Given the description of an element on the screen output the (x, y) to click on. 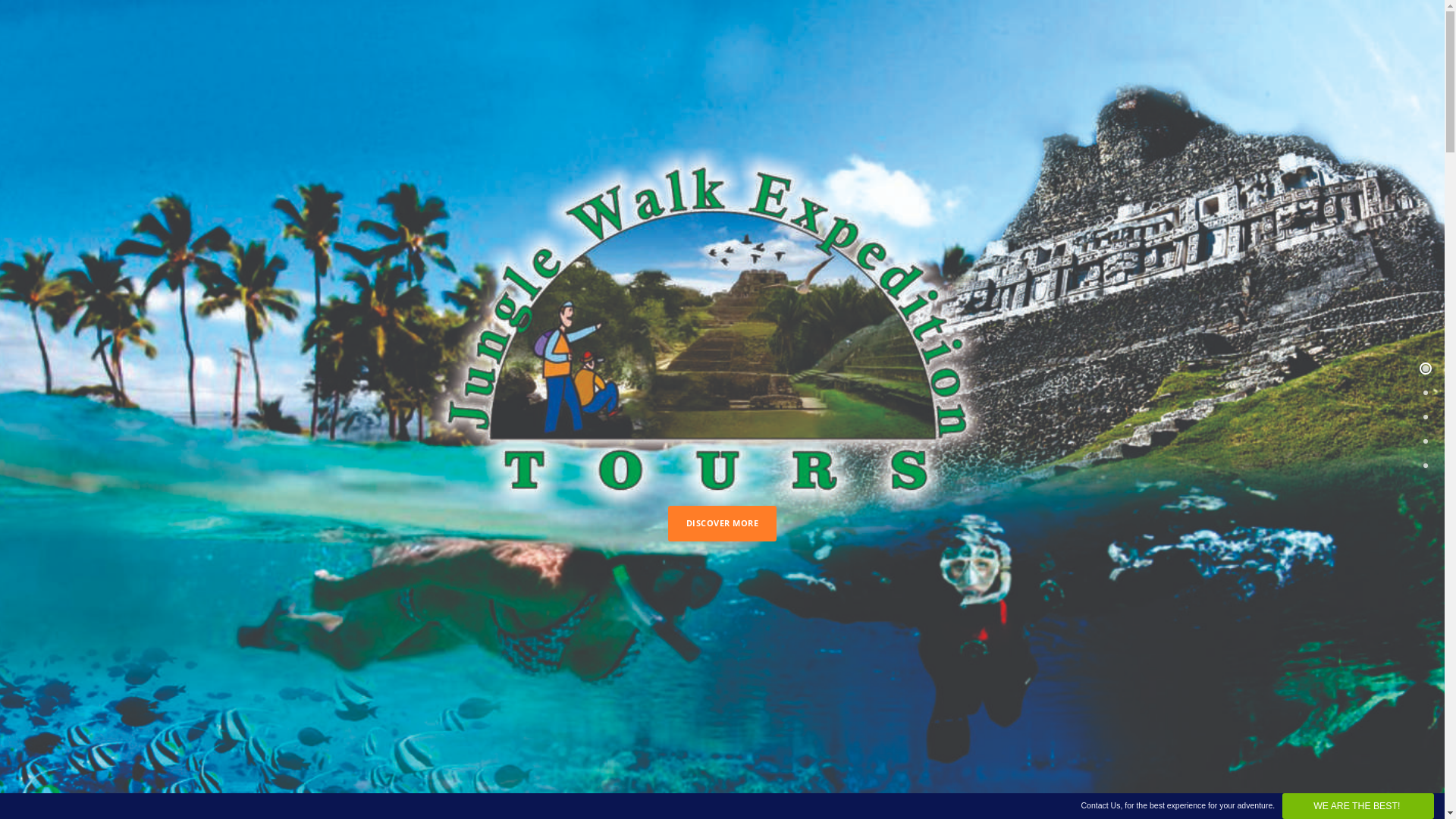
DISCOVER MORE Element type: text (722, 523)
